Given the description of an element on the screen output the (x, y) to click on. 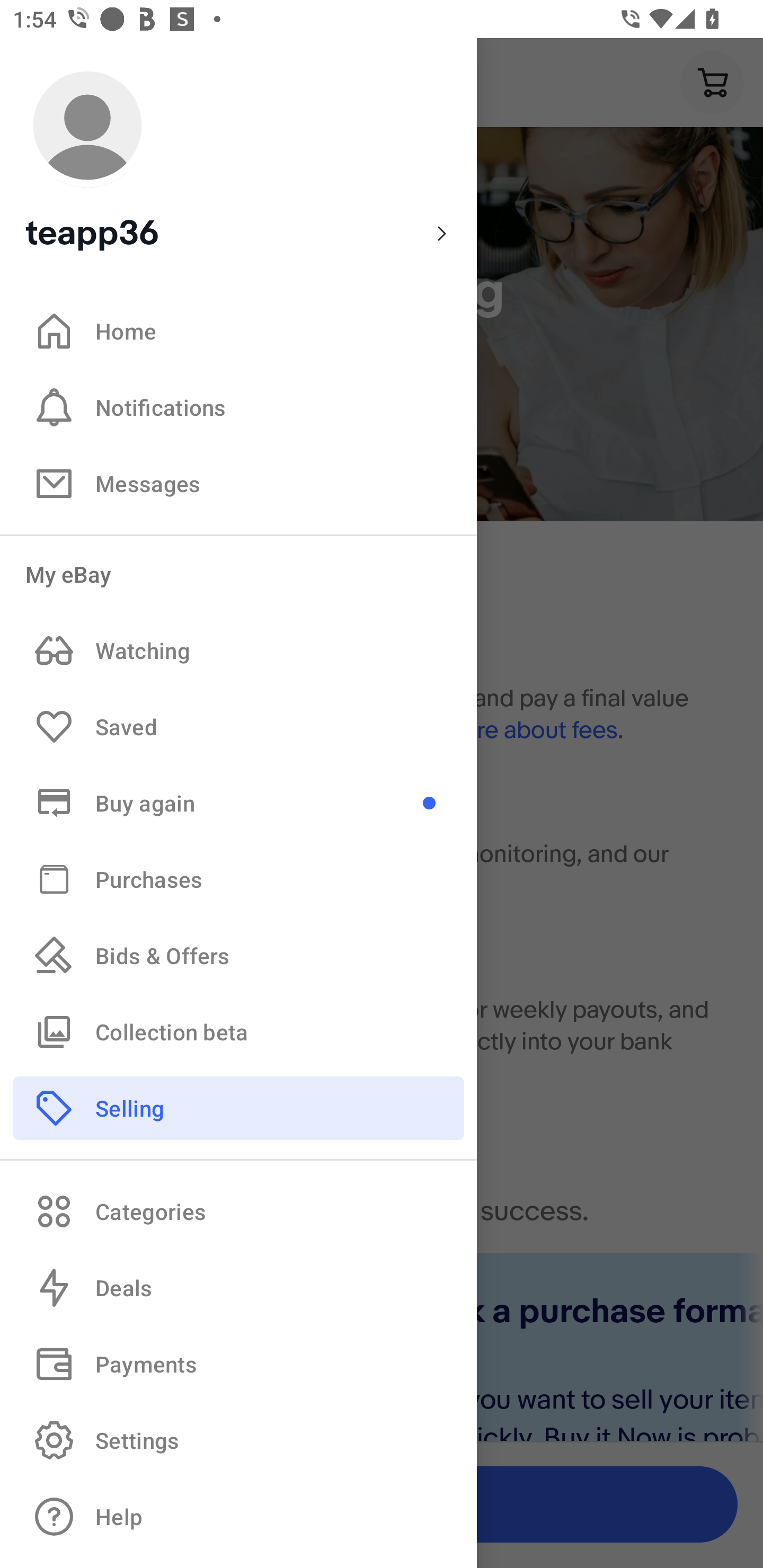
teapp36 (238, 158)
Home (238, 330)
Notifications (238, 406)
Messages (238, 483)
Watching (238, 650)
Saved (238, 726)
Buy again Is new feature (238, 802)
Purchases (238, 878)
Bids & Offers (238, 955)
Collection beta (238, 1031)
Selling (238, 1107)
Categories (238, 1210)
Deals (238, 1287)
Payments (238, 1363)
Settings (238, 1439)
Help (238, 1516)
